Given the description of an element on the screen output the (x, y) to click on. 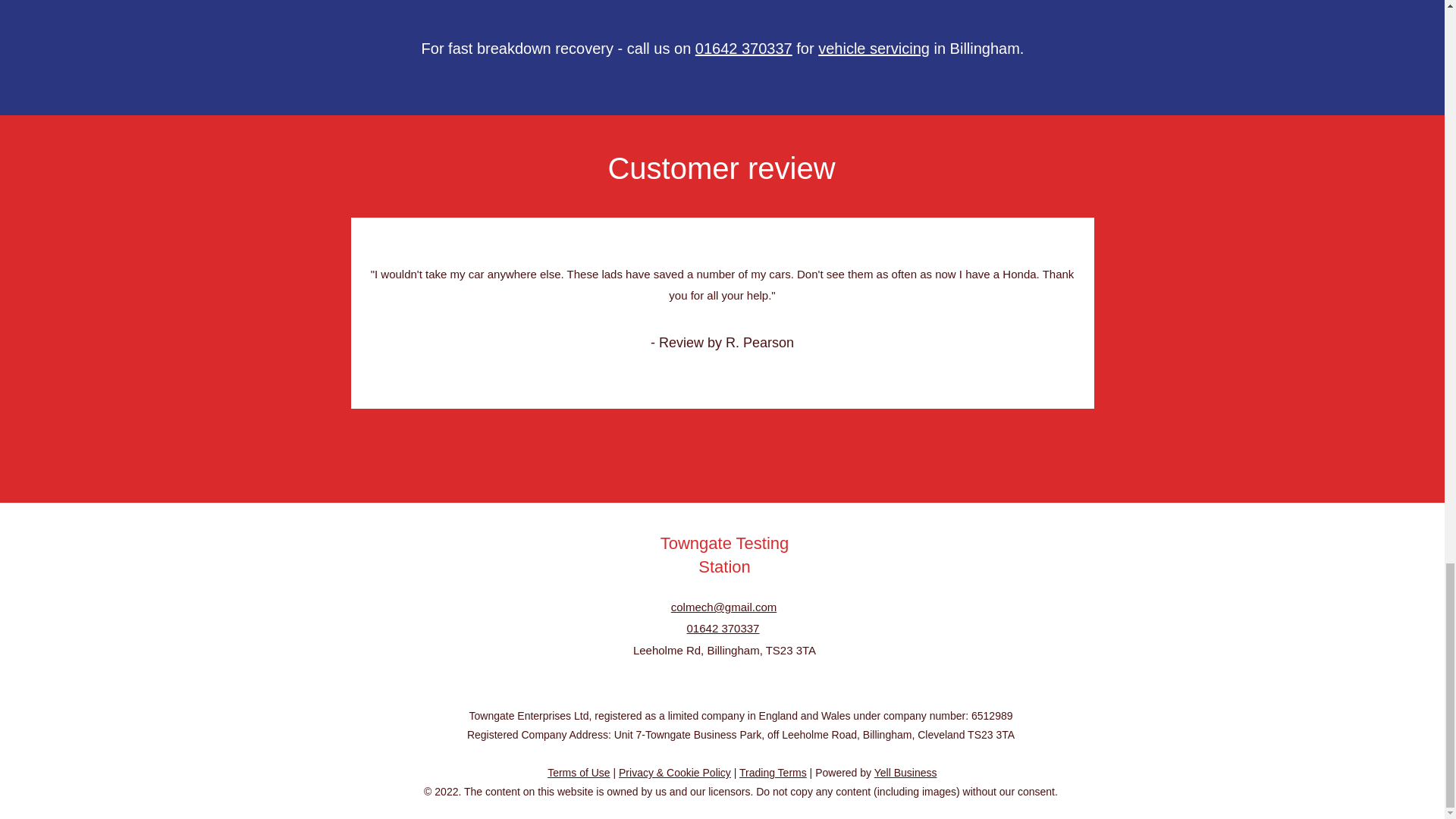
01642 370337 (743, 48)
Terms of Use (578, 772)
Trading Terms (772, 772)
01642 370337 (723, 627)
Towngate Testing Station (725, 554)
vehicle servicing (874, 48)
Yell Business (906, 772)
